Given the description of an element on the screen output the (x, y) to click on. 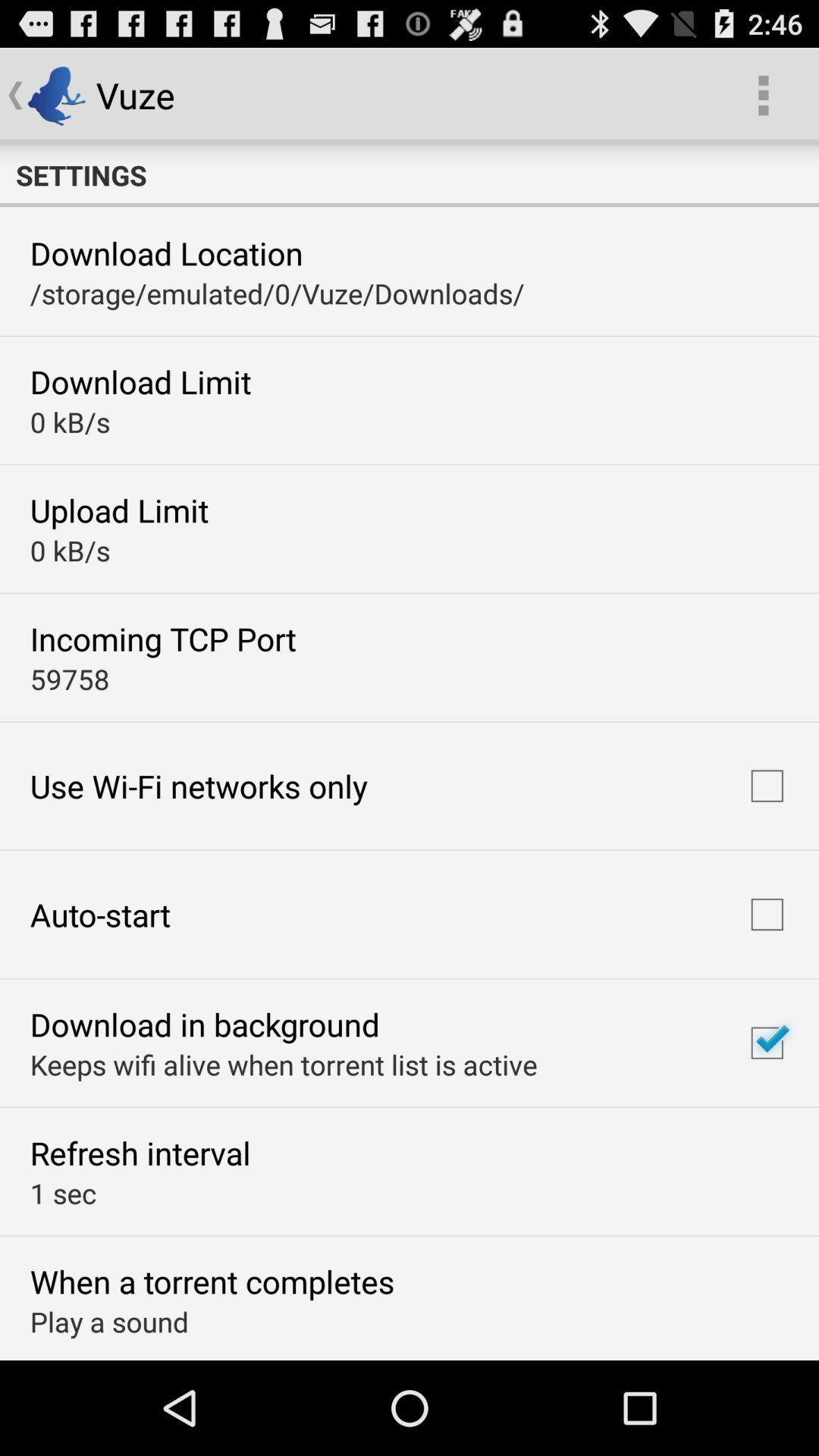
select auto-start app (100, 914)
